Given the description of an element on the screen output the (x, y) to click on. 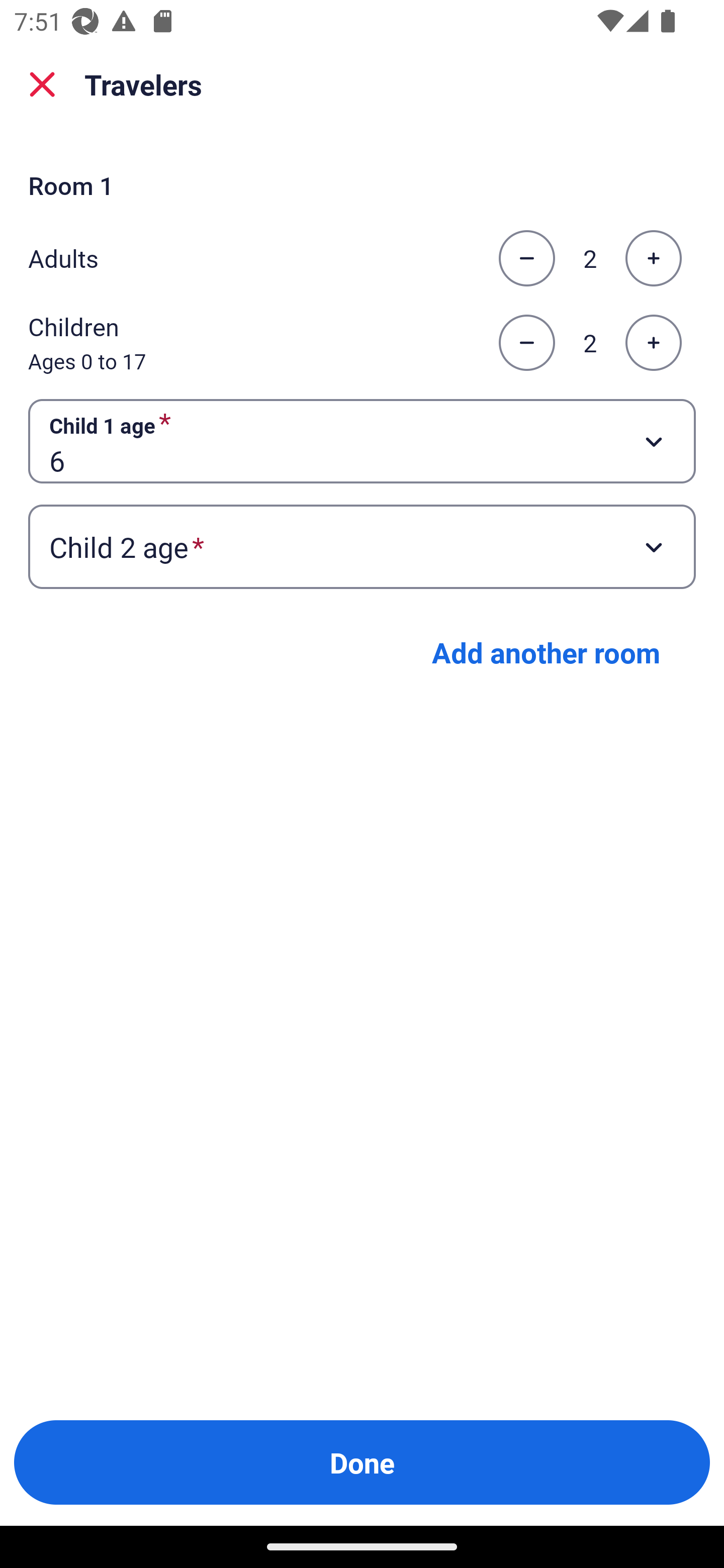
close (42, 84)
Decrease the number of adults (526, 258)
Increase the number of adults (653, 258)
Decrease the number of children (526, 343)
Increase the number of children (653, 343)
Child 1 age required Button 6 (361, 440)
Child 2 age required Button (361, 546)
Add another room (545, 651)
Done (361, 1462)
